Given the description of an element on the screen output the (x, y) to click on. 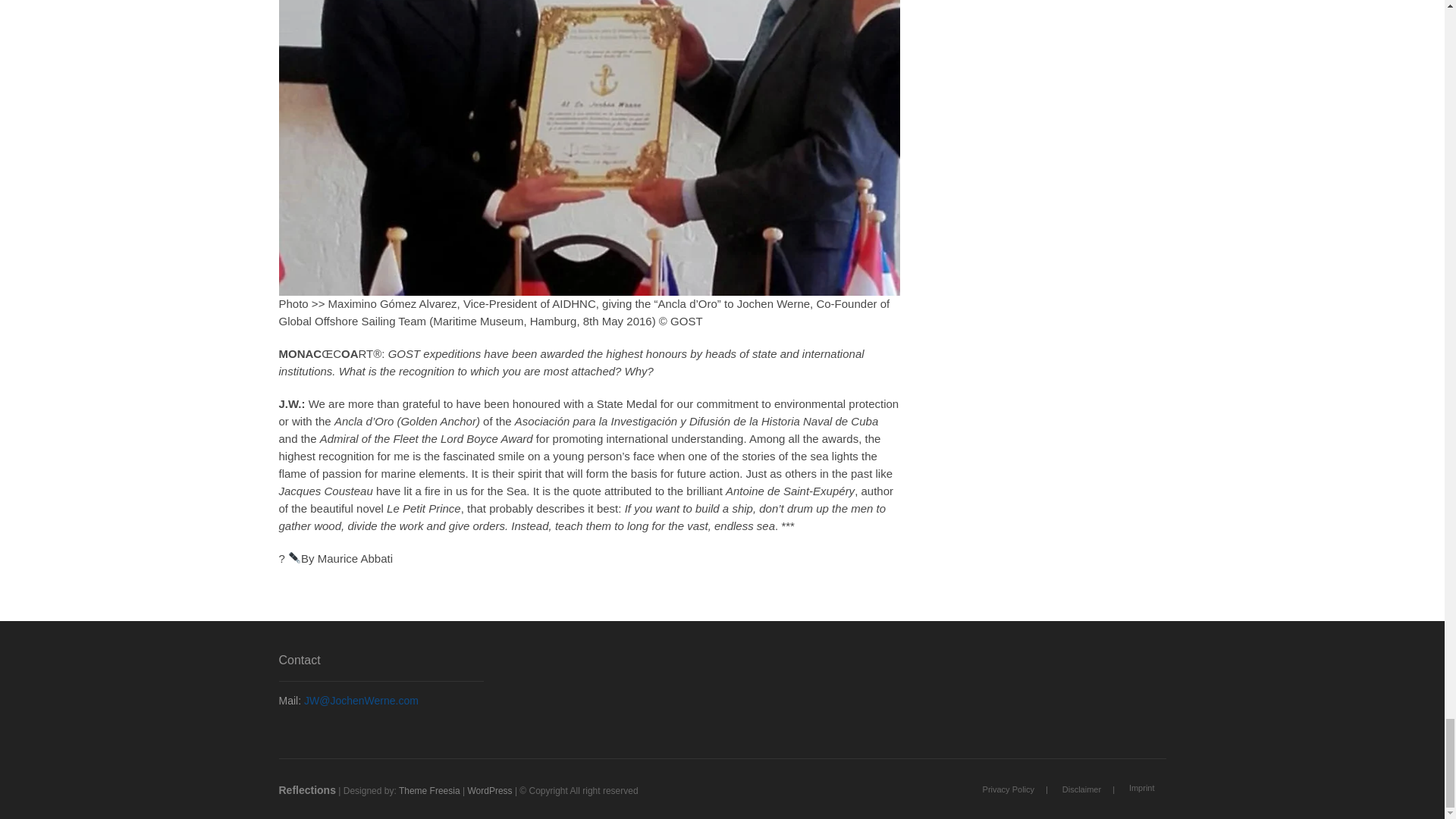
Theme Freesia (429, 790)
Reflections (307, 789)
WordPress (489, 790)
